Given the description of an element on the screen output the (x, y) to click on. 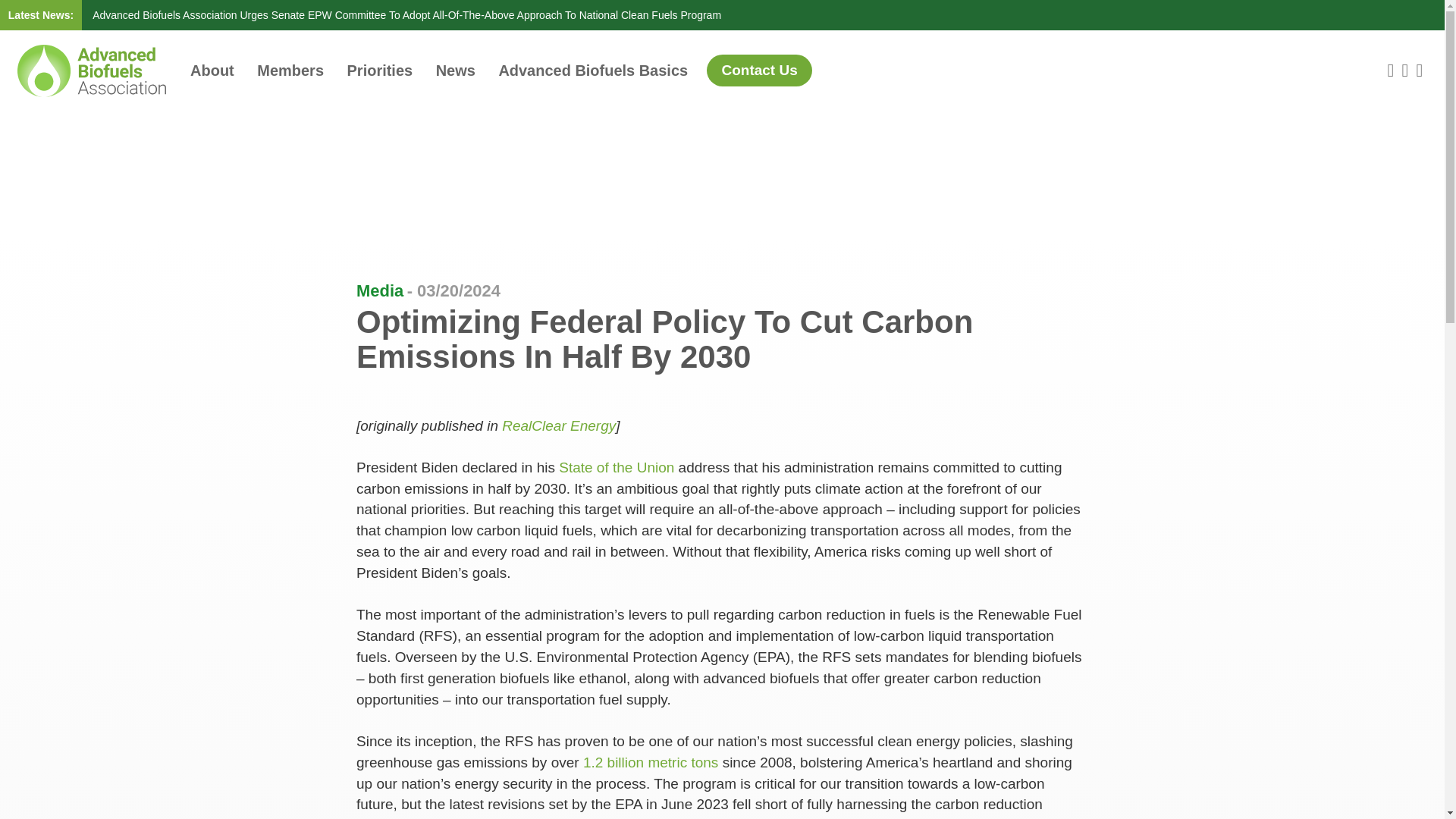
1.2 billion metric tons (650, 762)
RealClear Energy (558, 425)
Members (290, 70)
Contact Us (759, 70)
State of the Union (616, 467)
Advanced Biofuels Basics (592, 70)
News (455, 70)
About (212, 70)
Media (379, 290)
